Given the description of an element on the screen output the (x, y) to click on. 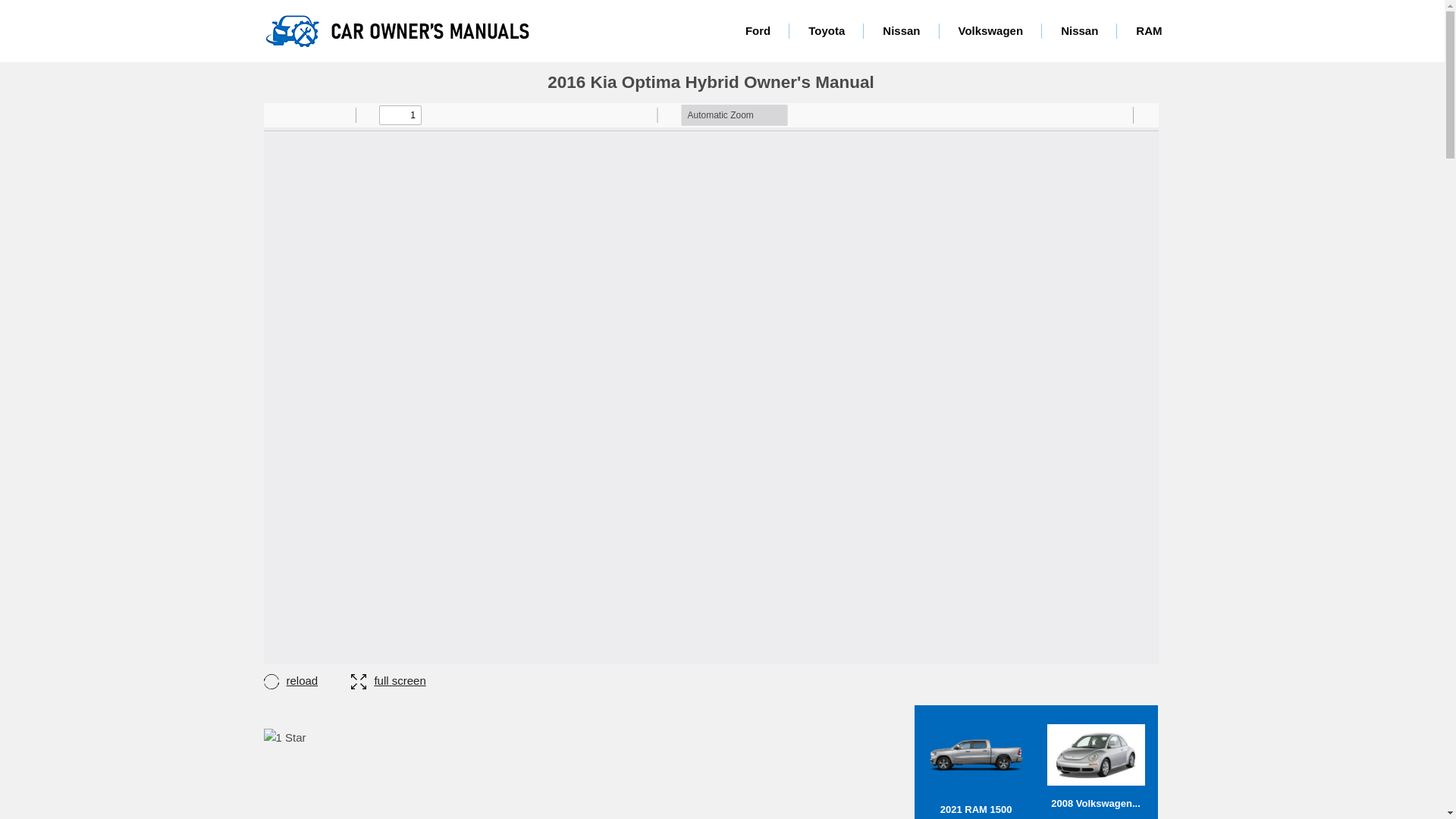
Volkswagen (990, 30)
Nissan (1079, 30)
Ford (757, 30)
RAM (1148, 30)
reload (306, 680)
2021 RAM 1500 (976, 766)
2008 Volkswagen... (1095, 766)
Nissan (901, 30)
Toyota (826, 30)
full screen (387, 680)
